Given the description of an element on the screen output the (x, y) to click on. 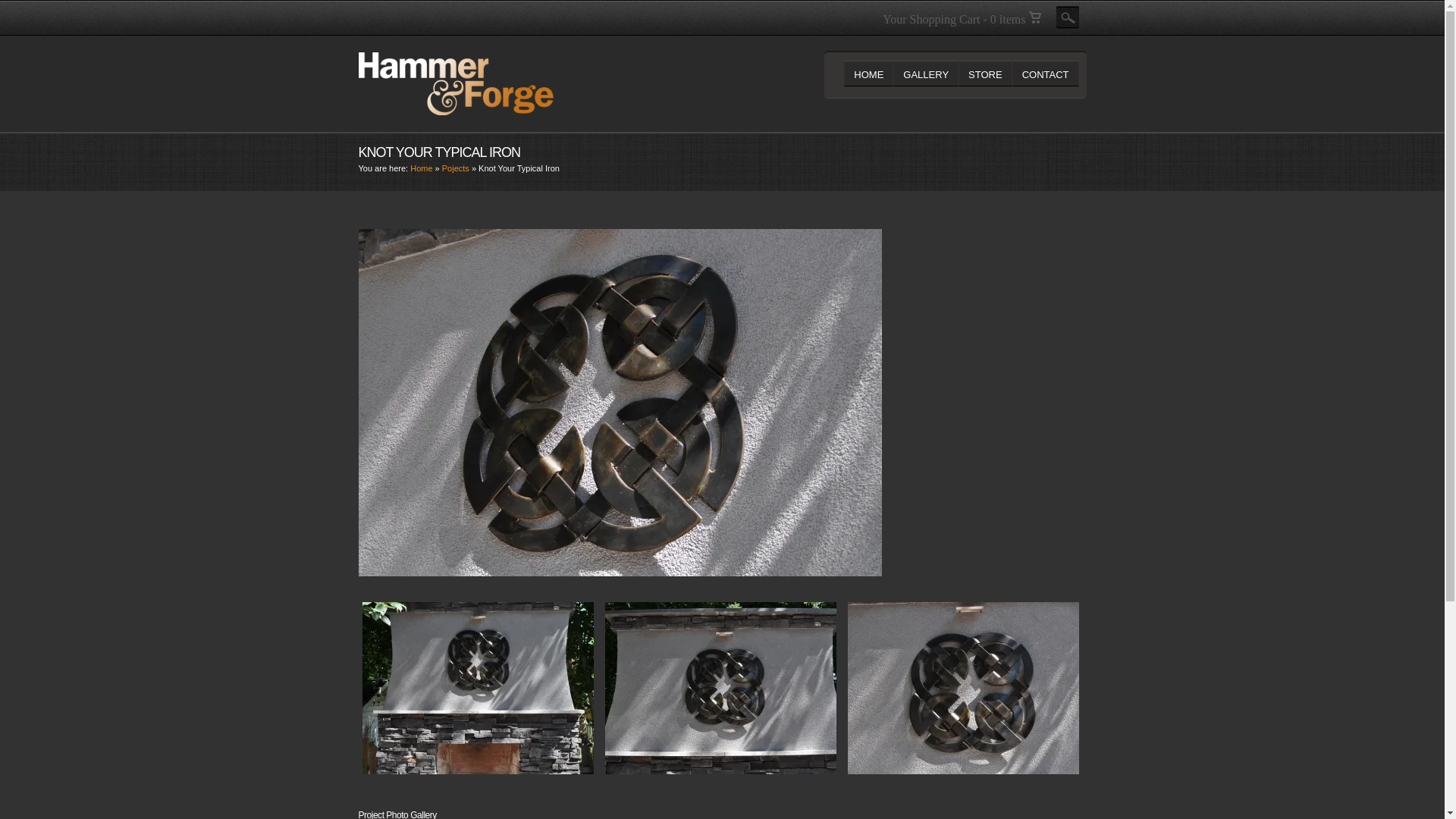
HOME (868, 73)
Home (421, 167)
GALLERY (925, 73)
STORE (984, 73)
Your Shopping Cart - 0 items (961, 19)
CONTACT (1044, 73)
View your shopping cart (961, 19)
Pojects (455, 167)
